Given the description of an element on the screen output the (x, y) to click on. 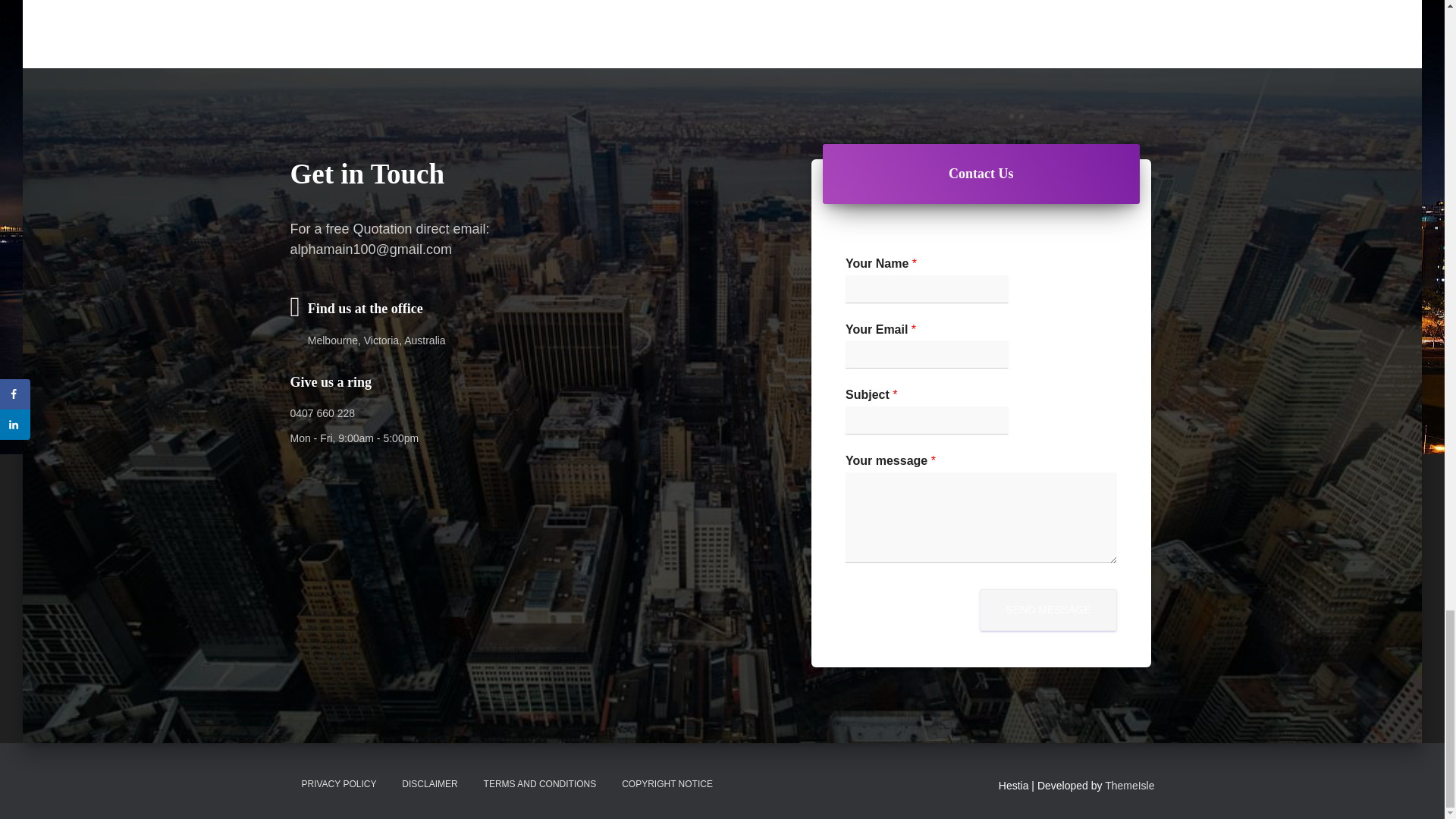
SEND MESSAGE (1047, 609)
TERMS AND CONDITIONS (539, 784)
PRIVACY POLICY (338, 784)
DISCLAIMER (429, 784)
ThemeIsle (1129, 785)
COPYRIGHT NOTICE (666, 784)
